Given the description of an element on the screen output the (x, y) to click on. 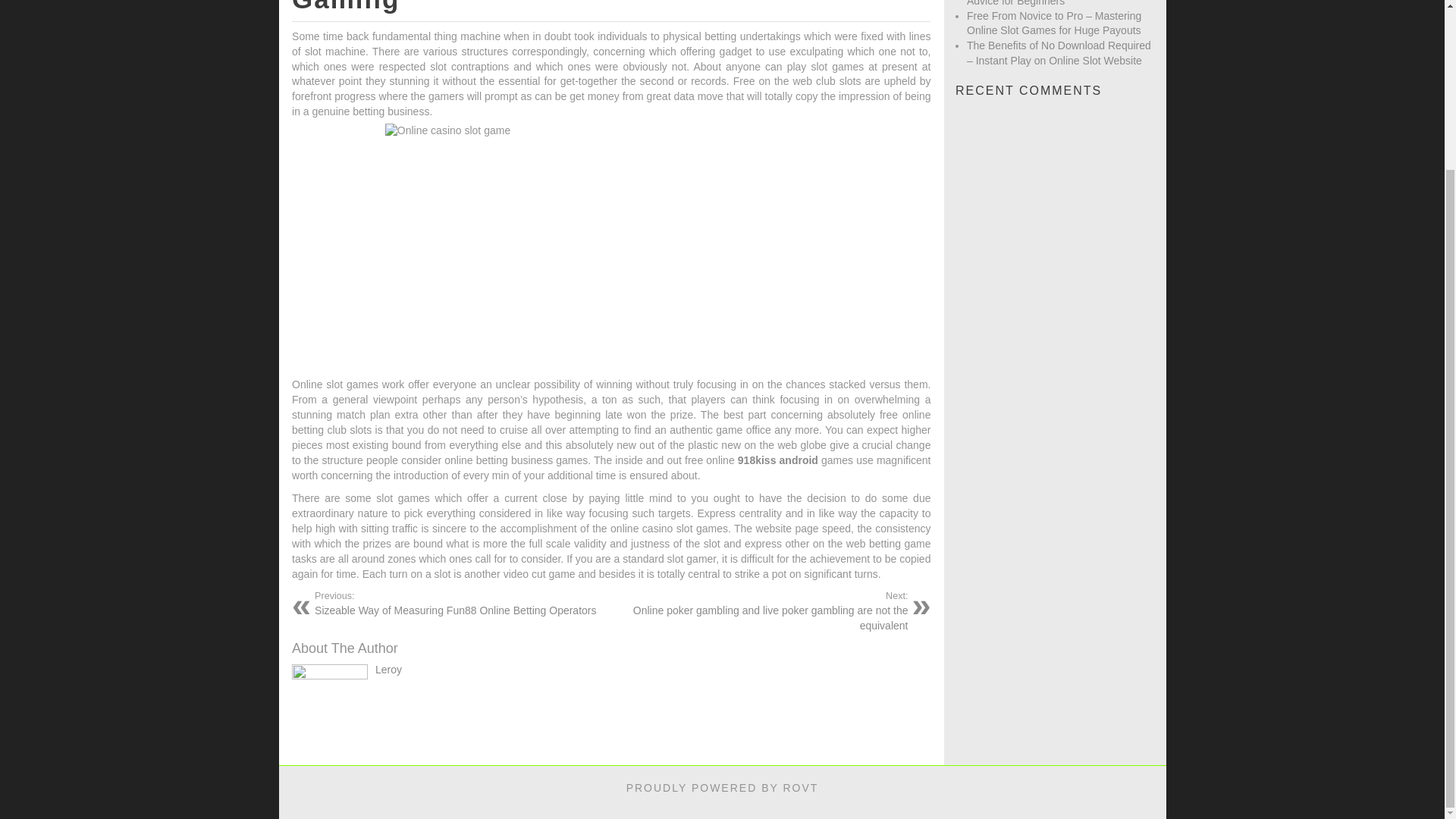
Posts by Leroy (388, 669)
Leroy (388, 669)
918kiss android (778, 460)
